Given the description of an element on the screen output the (x, y) to click on. 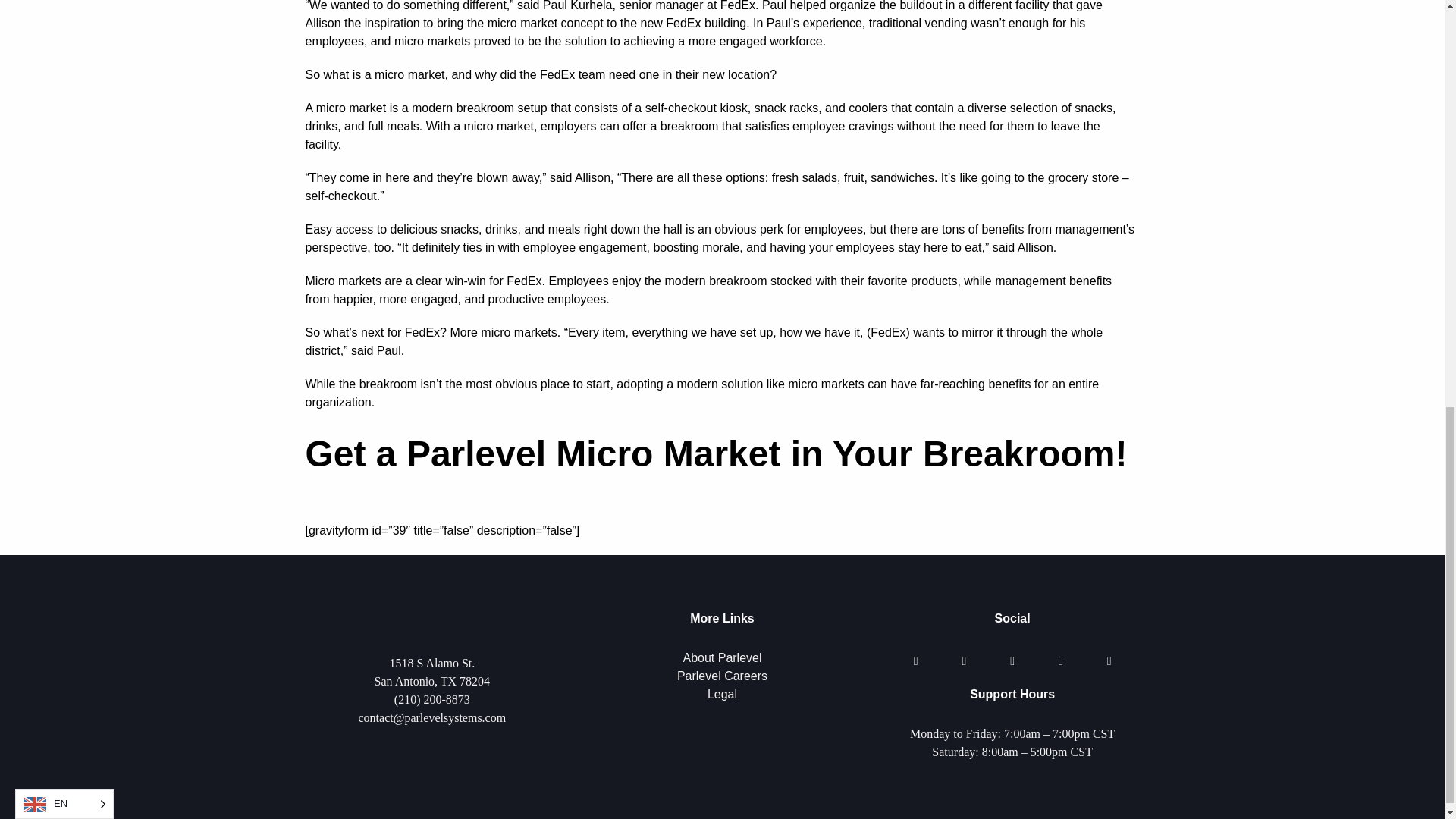
Legal (721, 694)
About Parlevel (721, 657)
Parlevel Careers (722, 675)
